Given the description of an element on the screen output the (x, y) to click on. 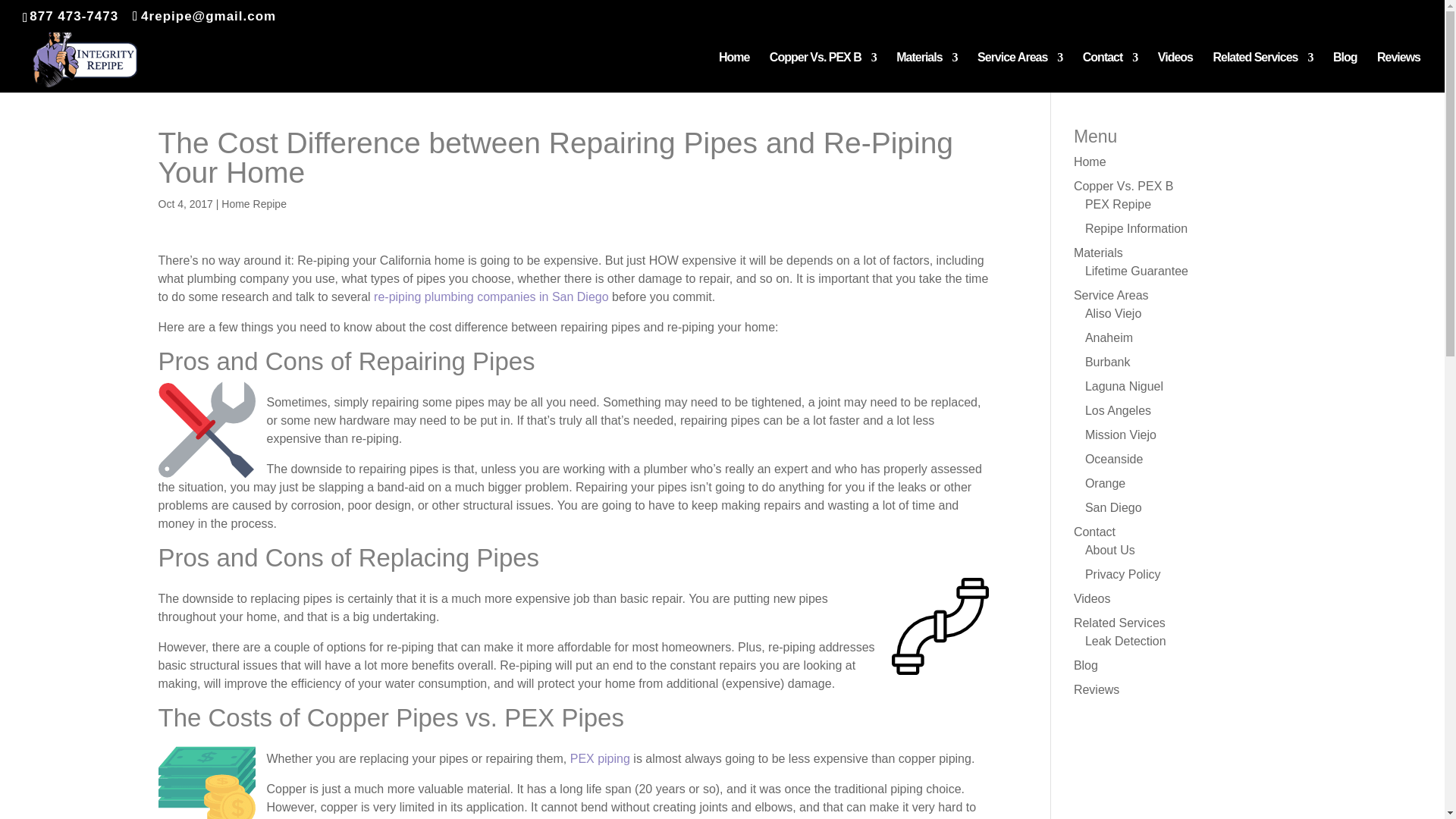
Related Services (1262, 72)
Materials (926, 72)
PEX piping (600, 758)
Contact (1110, 72)
Copper Vs. PEX B (1123, 185)
Repipe Information (1136, 228)
Copper Vs. PEX B (823, 72)
Home Repipe (253, 203)
Reviews (1399, 72)
Service Areas (1019, 72)
